Given the description of an element on the screen output the (x, y) to click on. 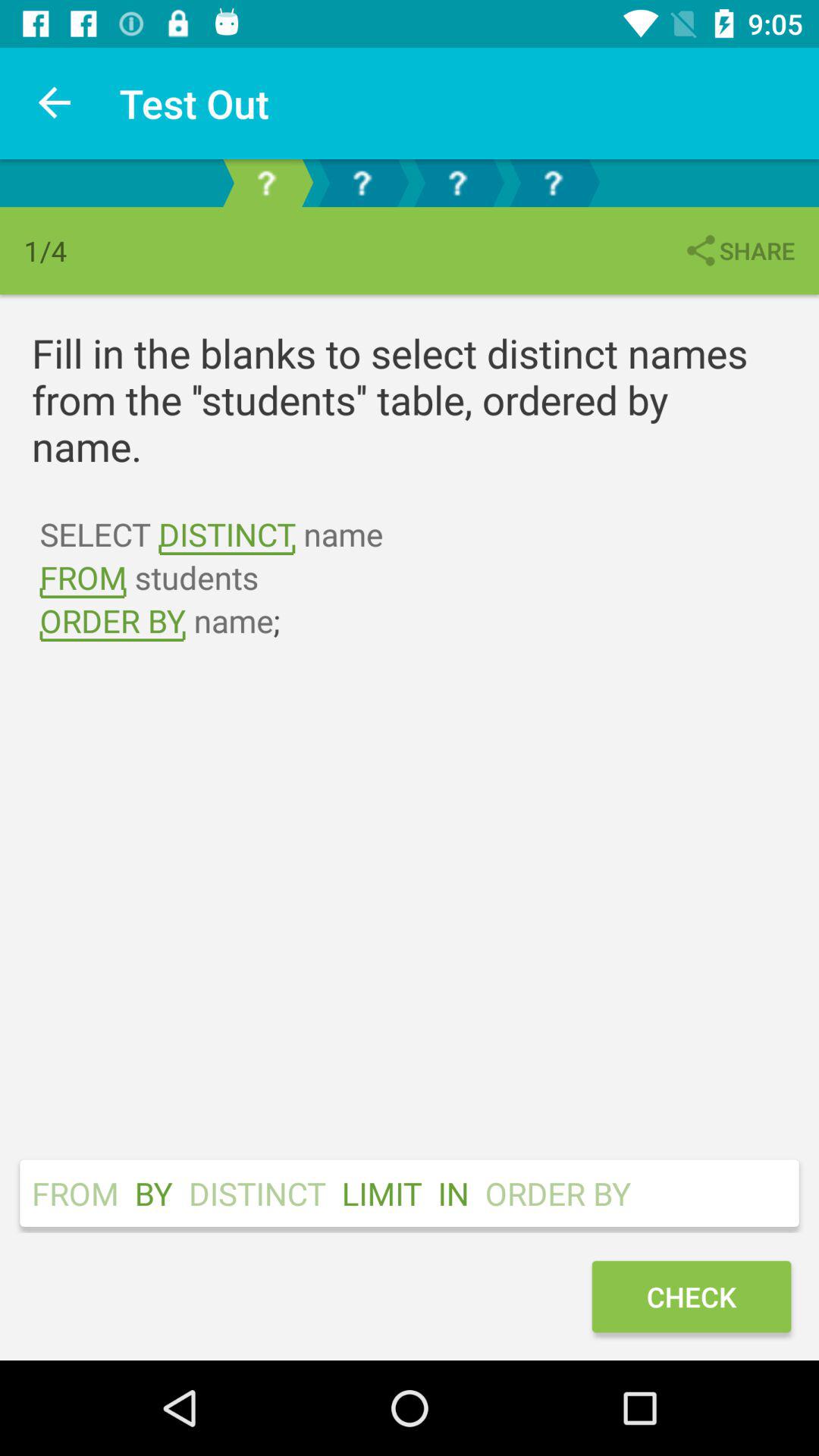
click icon above the fill in the item (738, 250)
